Given the description of an element on the screen output the (x, y) to click on. 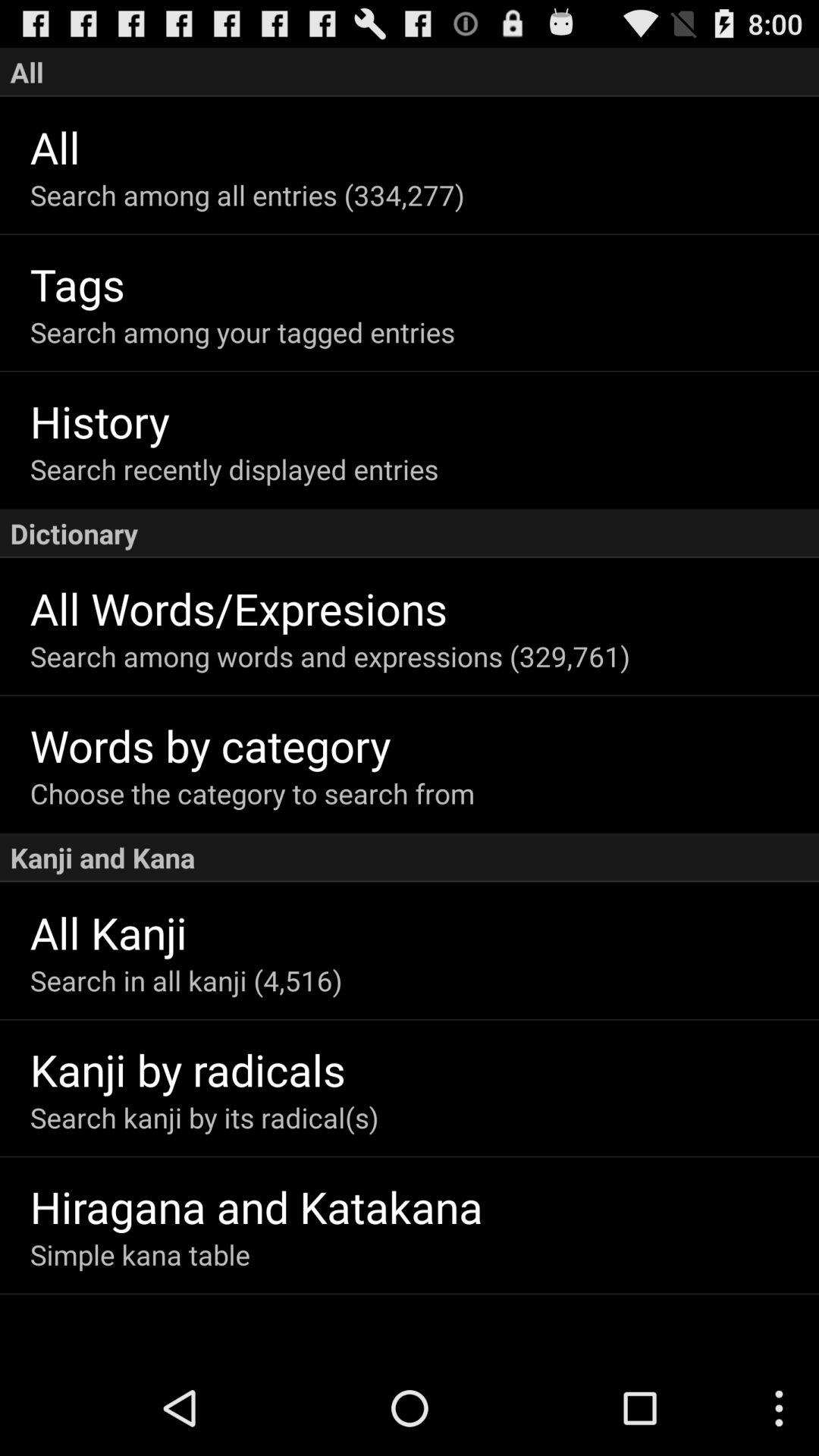
tap the simple kana table app (424, 1254)
